Given the description of an element on the screen output the (x, y) to click on. 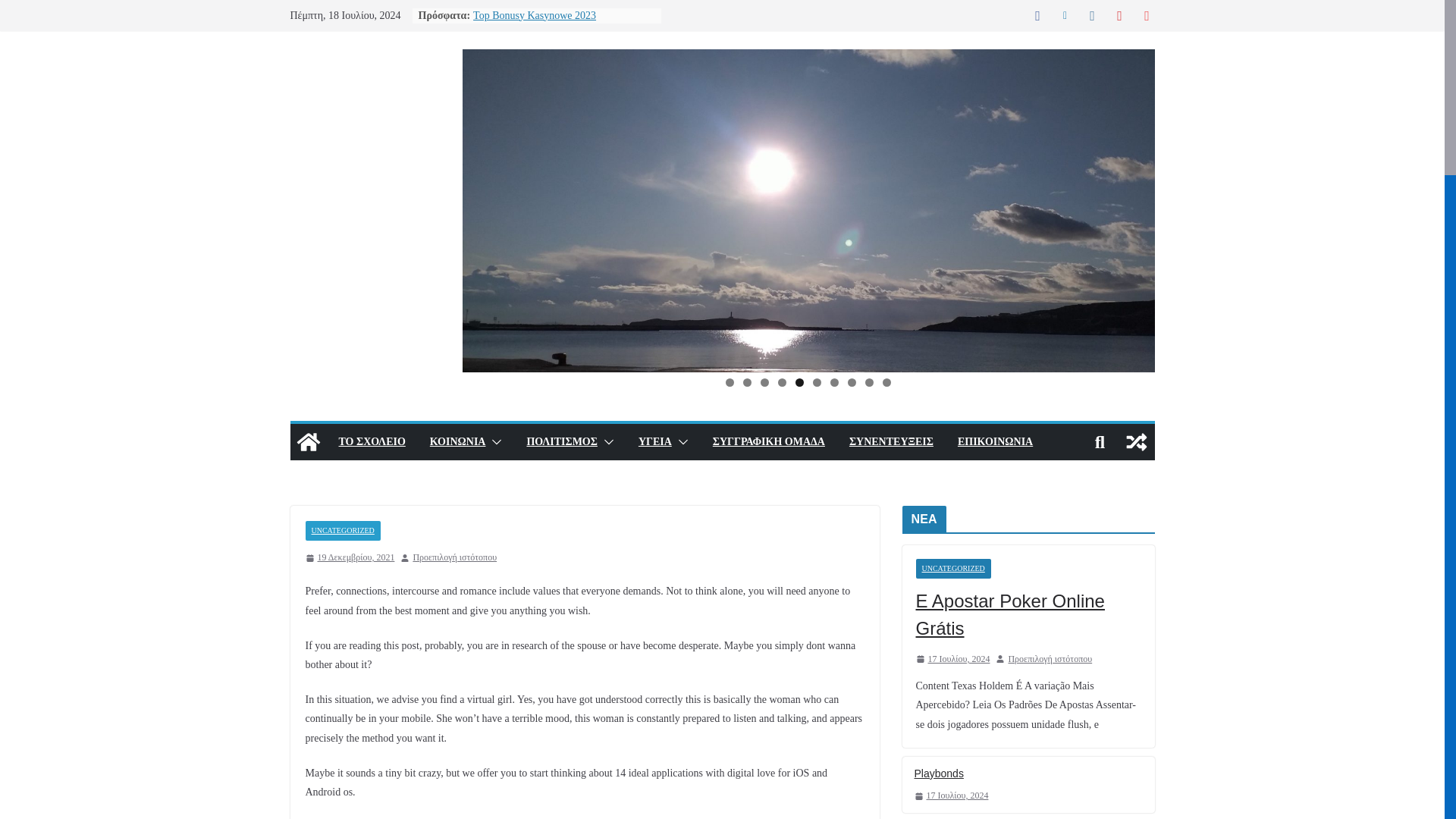
9 (868, 382)
7 (833, 382)
10 (886, 382)
8 (851, 382)
6 (816, 382)
1 (729, 382)
2 (746, 382)
3 (764, 382)
Top Bonusy Kasynowe 2023 (534, 15)
5 (798, 382)
4 (781, 382)
Top Bonusy Kasynowe 2023 (534, 15)
